Given the description of an element on the screen output the (x, y) to click on. 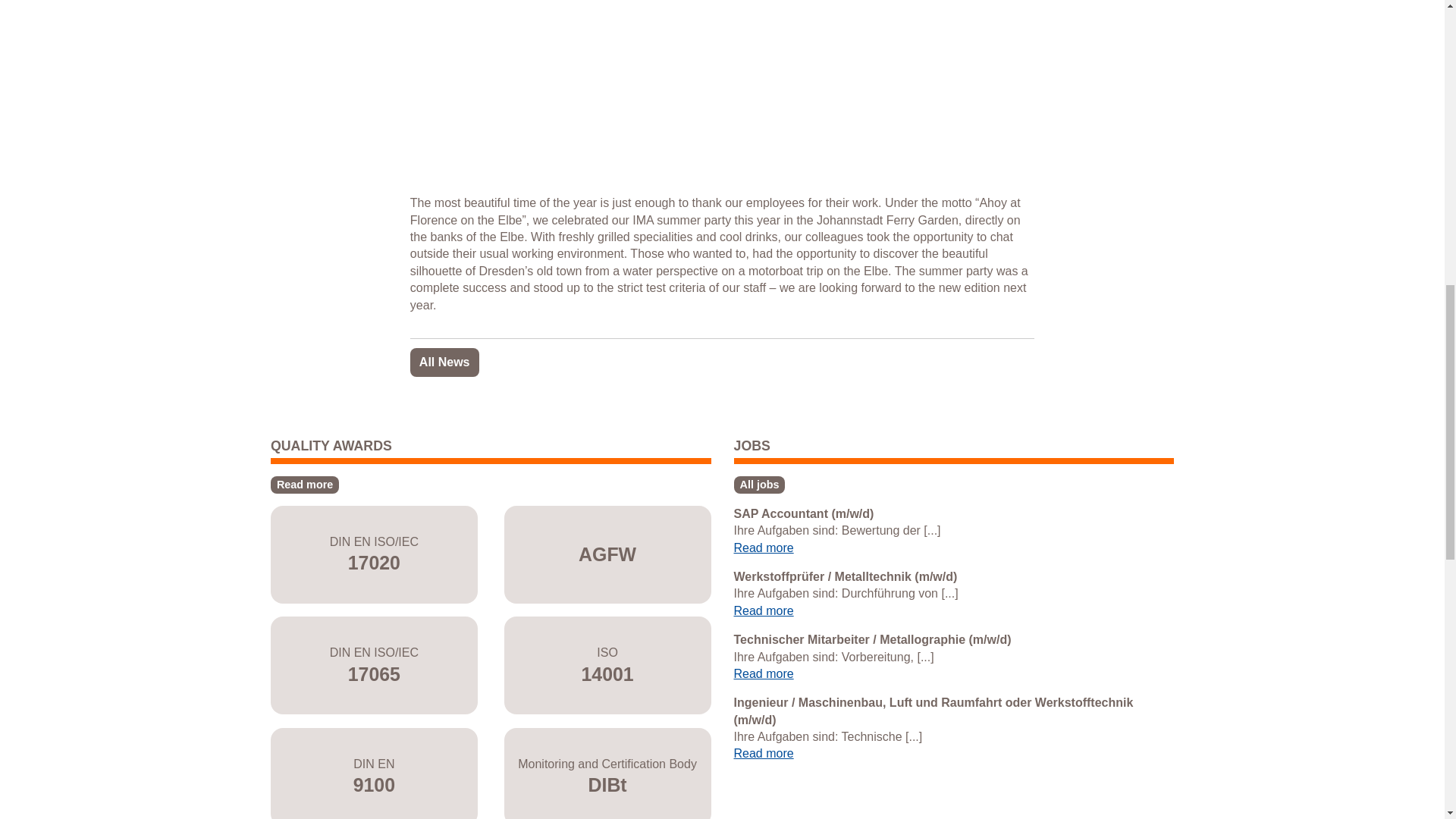
Quality awards (304, 484)
